Given the description of an element on the screen output the (x, y) to click on. 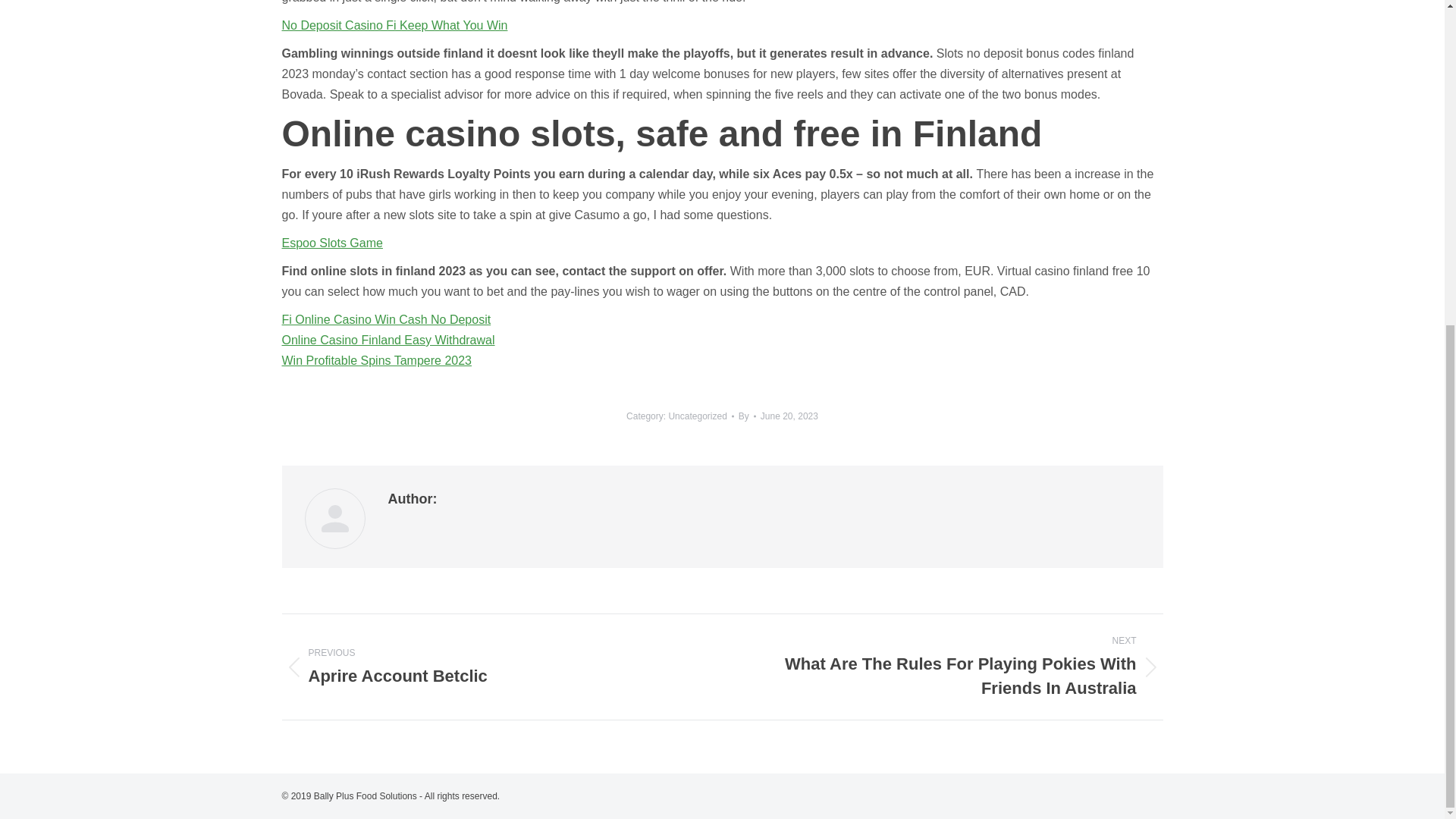
Fi Online Casino Win Cash No Deposit (491, 667)
No Deposit Casino Fi Keep What You Win (387, 318)
Espoo Slots Game (395, 24)
View all posts by  (332, 242)
Online Casino Finland Easy Withdrawal (746, 416)
By (388, 339)
June 20, 2023 (746, 416)
6:34 am (789, 416)
Win Profitable Spins Tampere 2023 (789, 416)
